Given the description of an element on the screen output the (x, y) to click on. 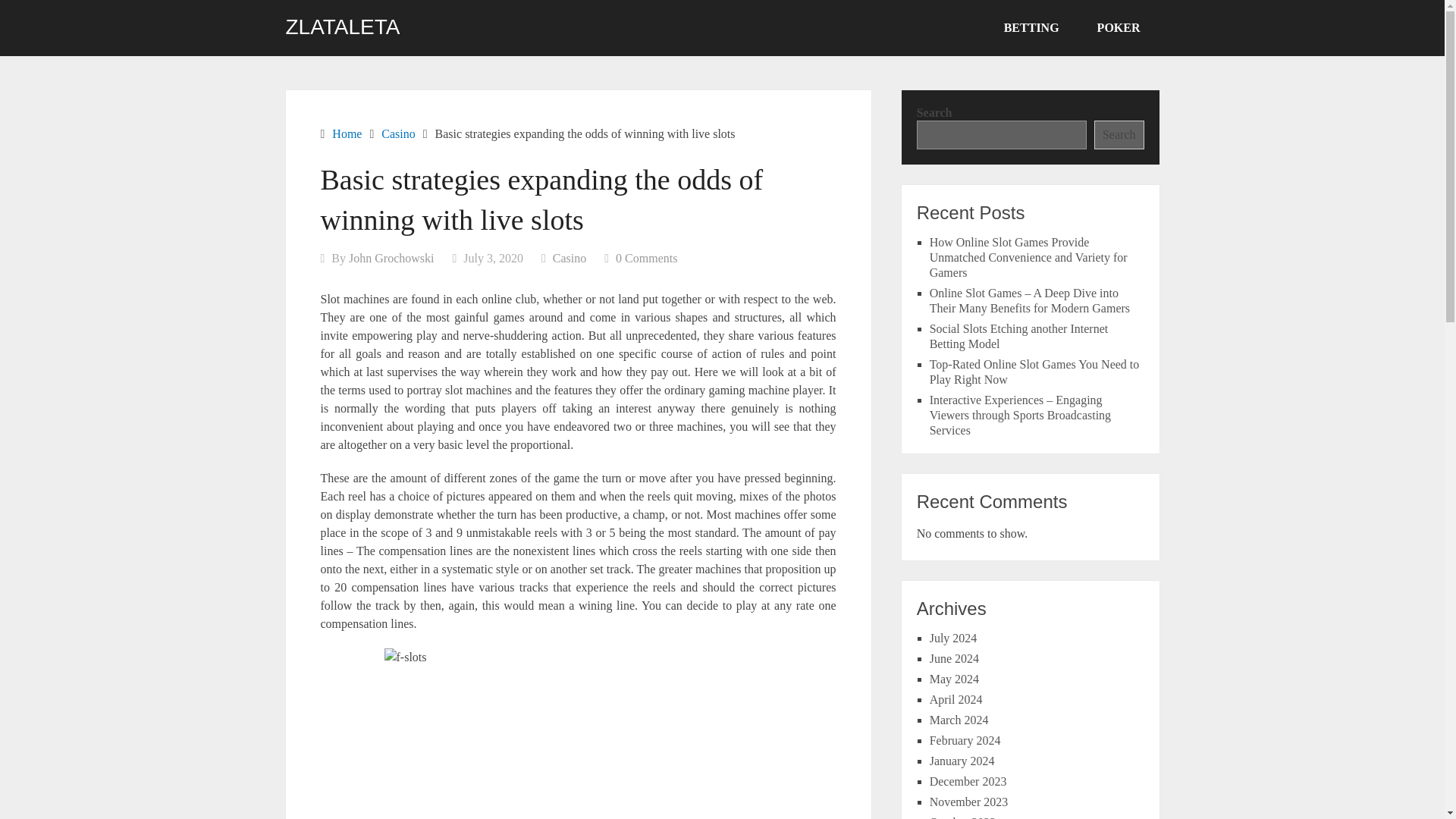
Search (1119, 134)
Posts by John Grochowski (391, 257)
April 2024 (956, 698)
0 Comments (646, 257)
December 2023 (968, 780)
Home (346, 133)
Casino (397, 133)
Social Slots Etching another Internet Betting Model (1019, 336)
BETTING (1031, 28)
January 2024 (962, 760)
POKER (1118, 28)
June 2024 (954, 658)
March 2024 (959, 719)
ZLATALETA (341, 26)
Casino (569, 257)
